Given the description of an element on the screen output the (x, y) to click on. 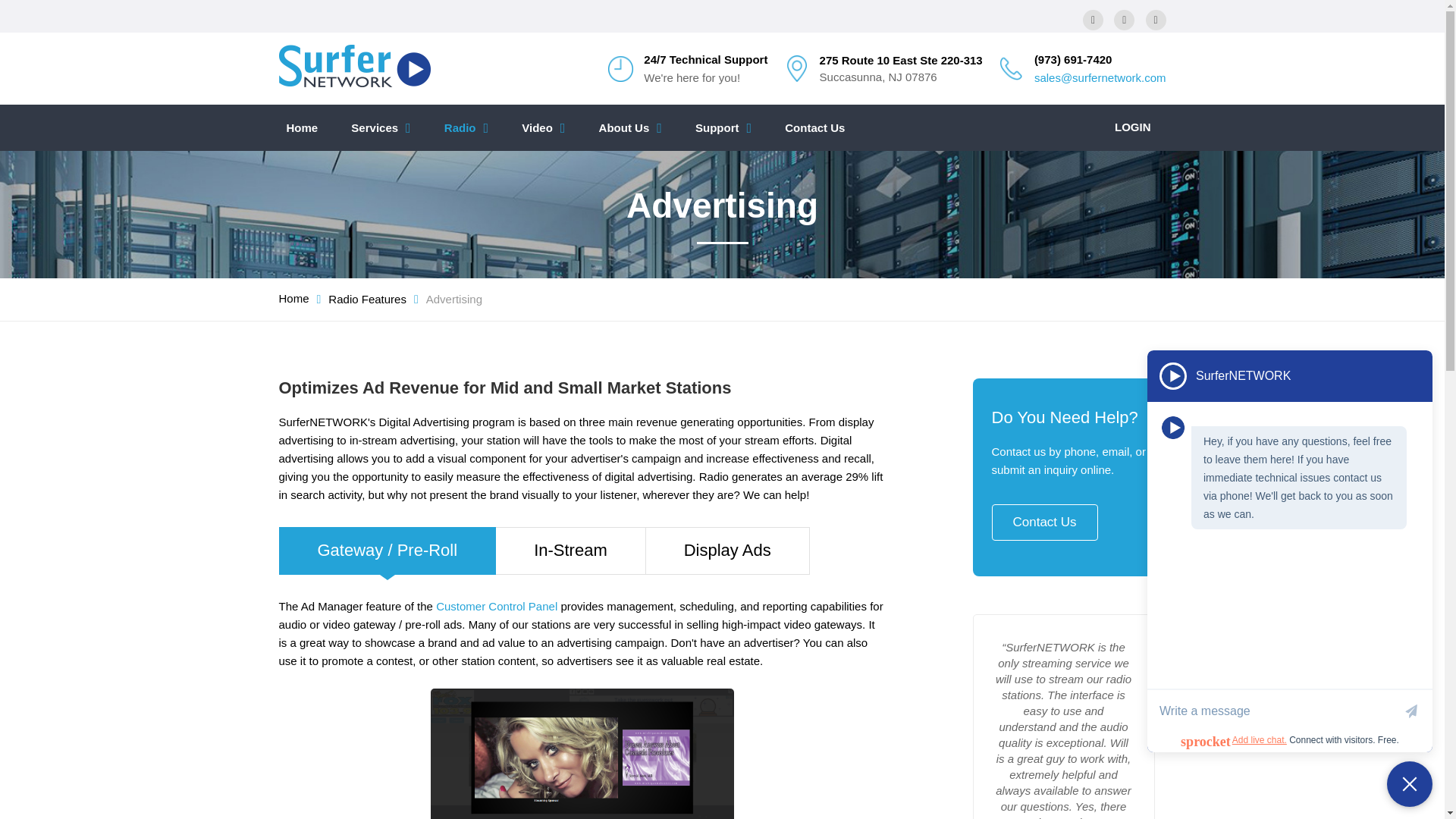
Contact Us (814, 127)
Video (542, 127)
Radio (466, 127)
Services (380, 127)
LOGIN (1132, 127)
Home (302, 127)
About Us (630, 127)
Support (722, 127)
